Given the description of an element on the screen output the (x, y) to click on. 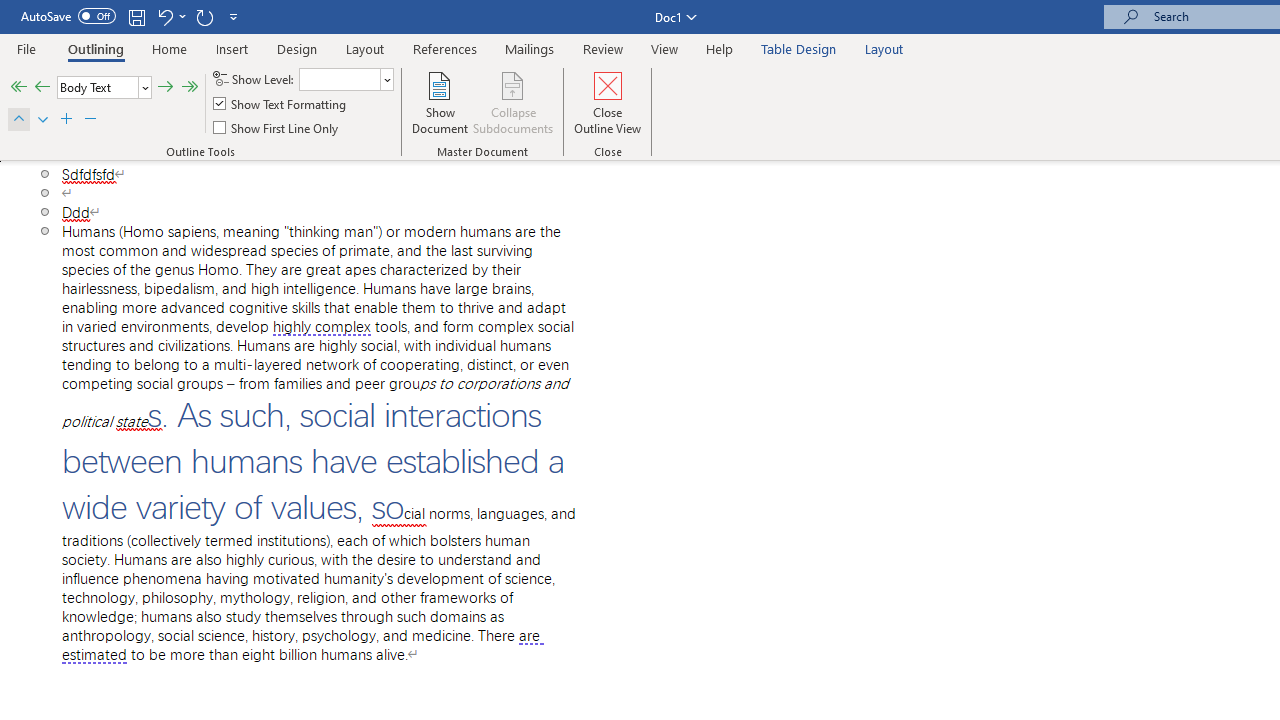
File Tab (26, 48)
Demote (165, 87)
Home (169, 48)
Show Level (346, 78)
Close Outline View (607, 102)
Collapse (90, 119)
Table Design (798, 48)
Undo Outline Move Up (170, 15)
